Given the description of an element on the screen output the (x, y) to click on. 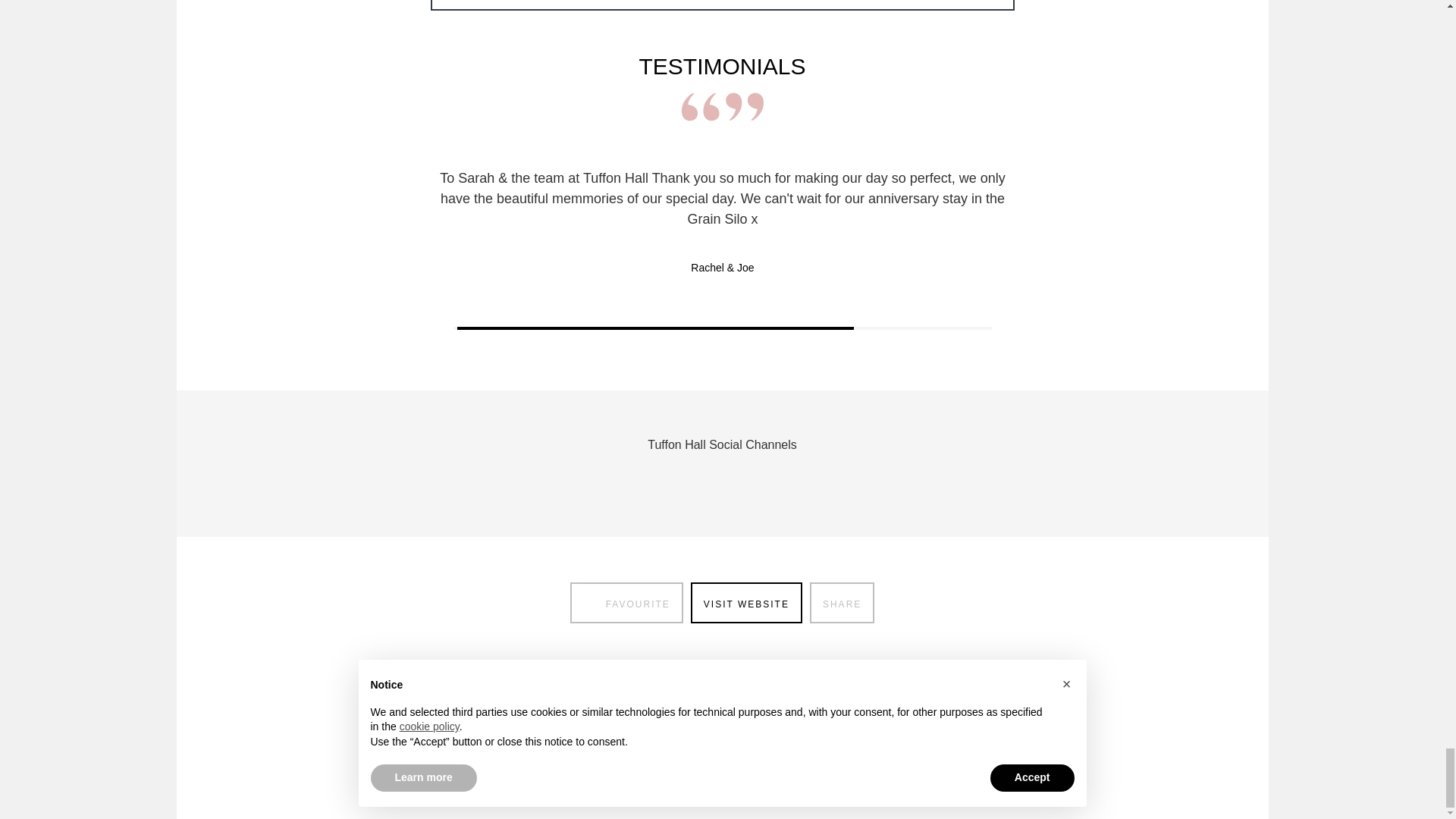
previous slide (447, 328)
next slide (996, 328)
